Given the description of an element on the screen output the (x, y) to click on. 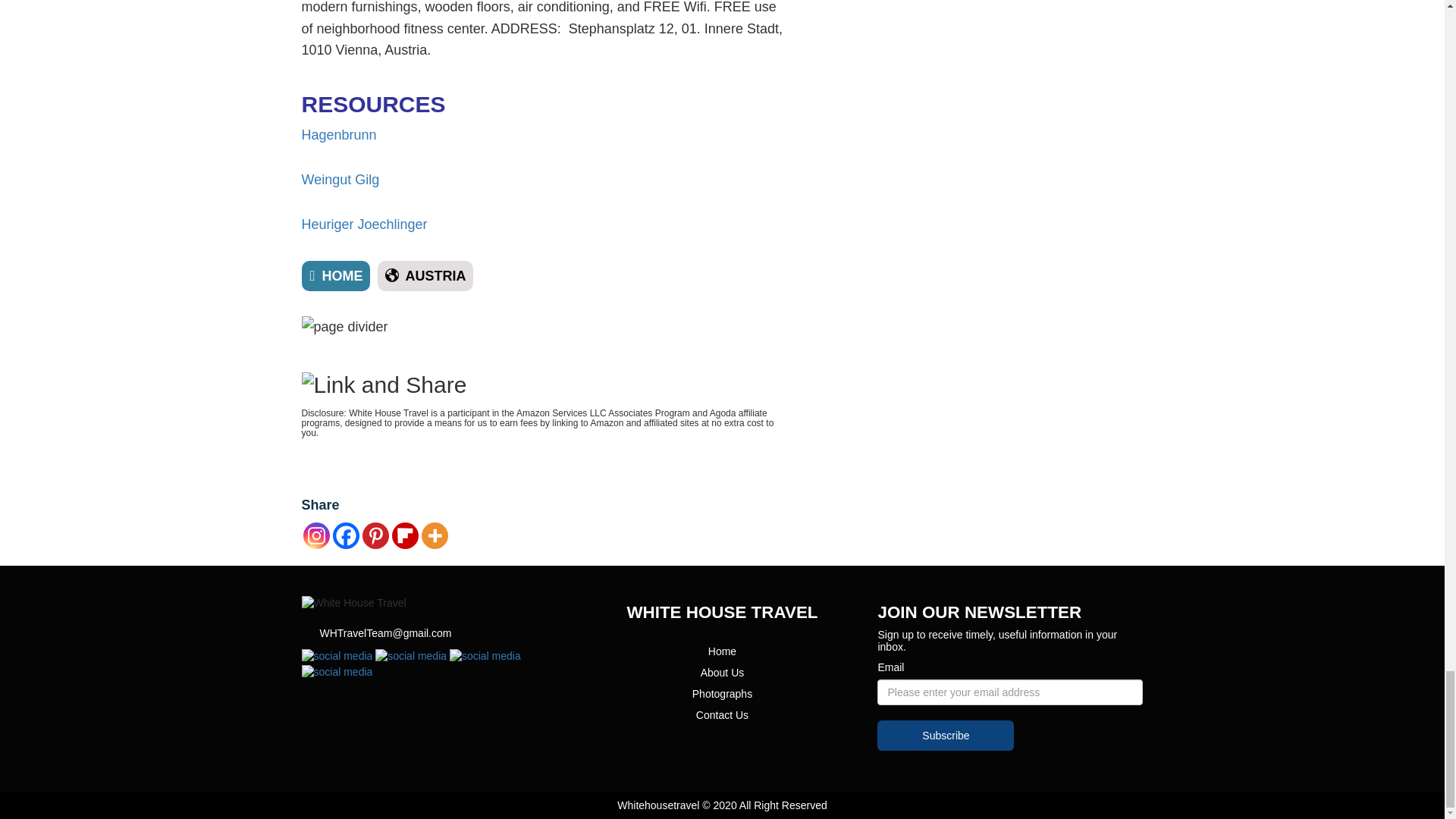
HOME (336, 276)
Hagenbrunn (339, 134)
More (435, 535)
Weingut Gilg (340, 179)
Instagram (316, 535)
Heuriger Joechlinger (364, 224)
Flipboard (404, 535)
Pinterest (375, 535)
Facebook (344, 535)
